Given the description of an element on the screen output the (x, y) to click on. 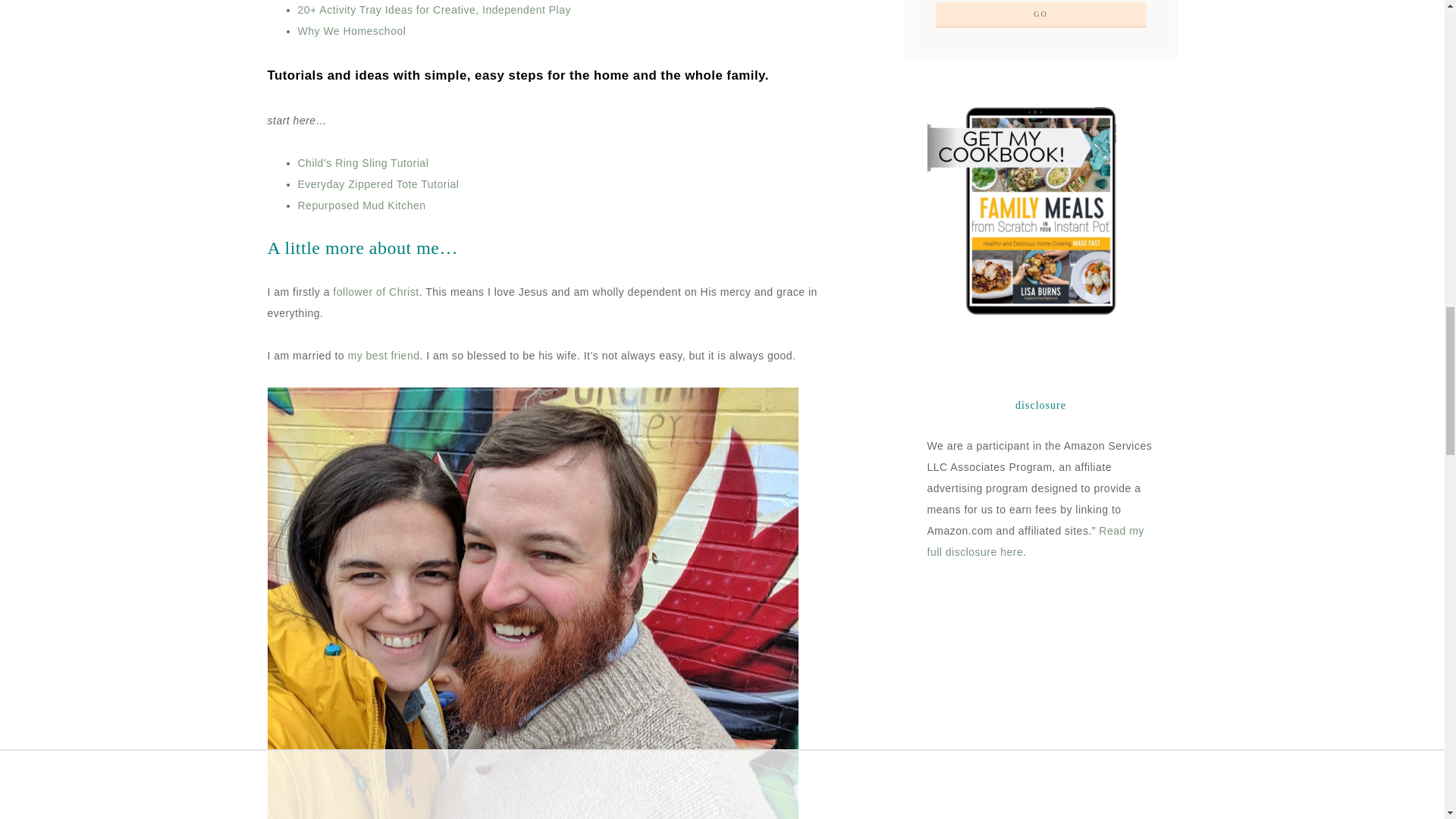
Good News (376, 291)
Advertisement (1053, 721)
Go (1041, 14)
